Given the description of an element on the screen output the (x, y) to click on. 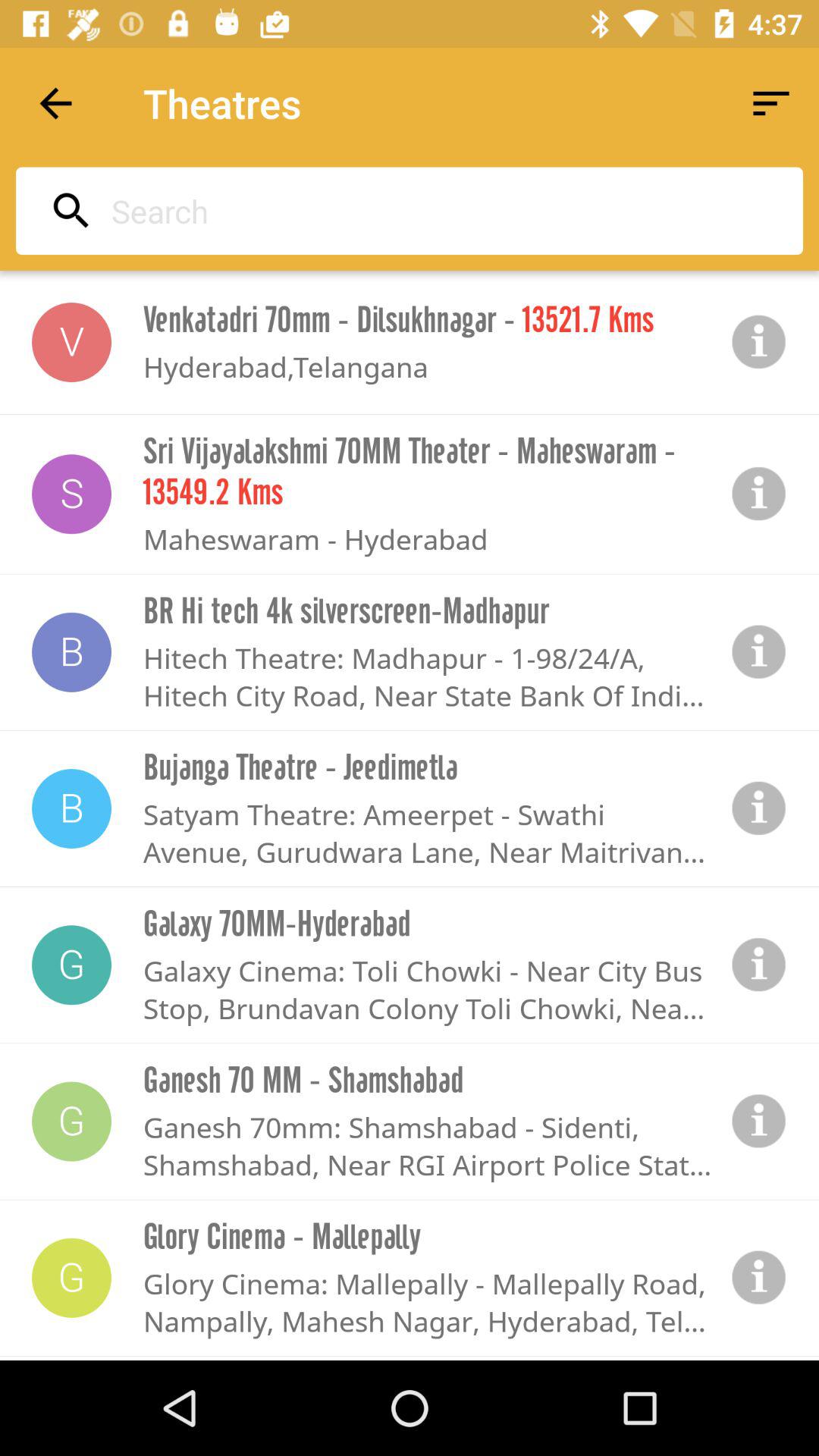
select app to the left of theatres icon (55, 103)
